Given the description of an element on the screen output the (x, y) to click on. 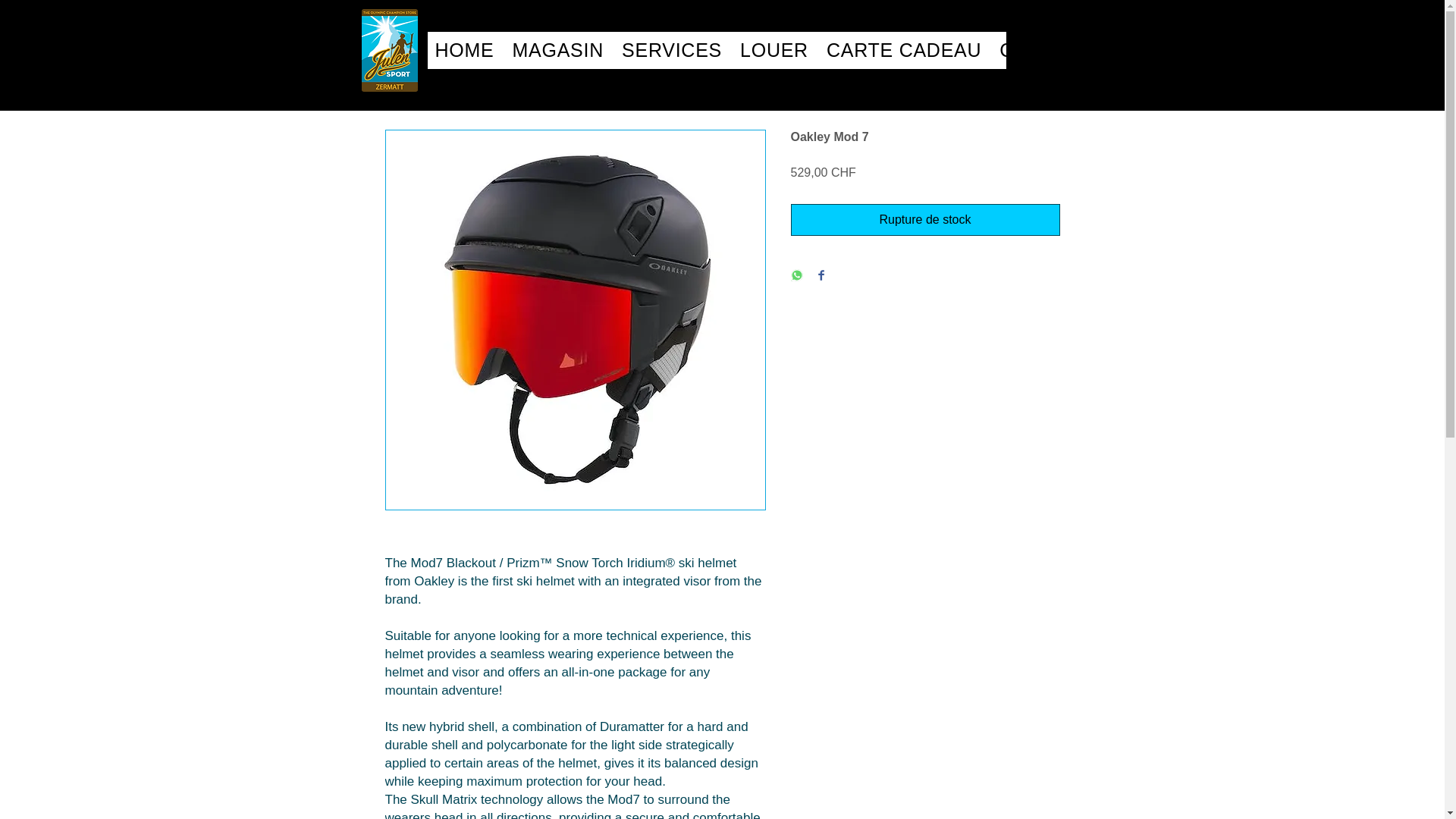
SERVICES (671, 49)
HOME (465, 49)
CARTE CADEAU (717, 49)
CONTACT (903, 49)
MAGASIN (1045, 49)
LOUER (558, 49)
Rupture de stock (773, 49)
